Given the description of an element on the screen output the (x, y) to click on. 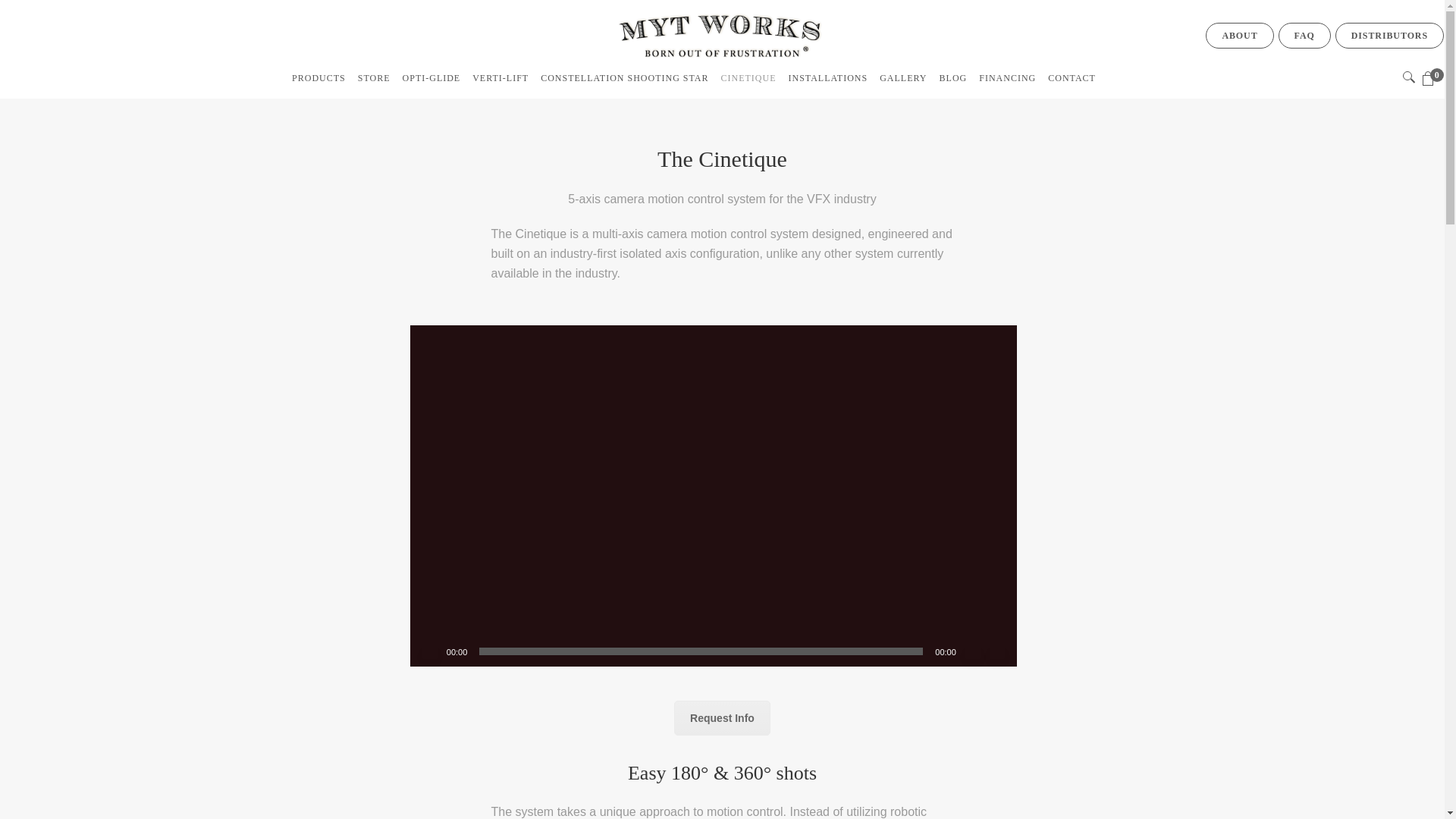
OPTI-GLIDE (431, 78)
VERTI-LIFT (499, 78)
ABOUT (1238, 35)
INSTALLATIONS (829, 78)
View your shopping bag (1433, 79)
CINETIQUE (748, 78)
Play (430, 651)
DISTRIBUTORS (1389, 35)
FAQ (1304, 35)
CONSTELLATION SHOOTING STAR (624, 78)
